Given the description of an element on the screen output the (x, y) to click on. 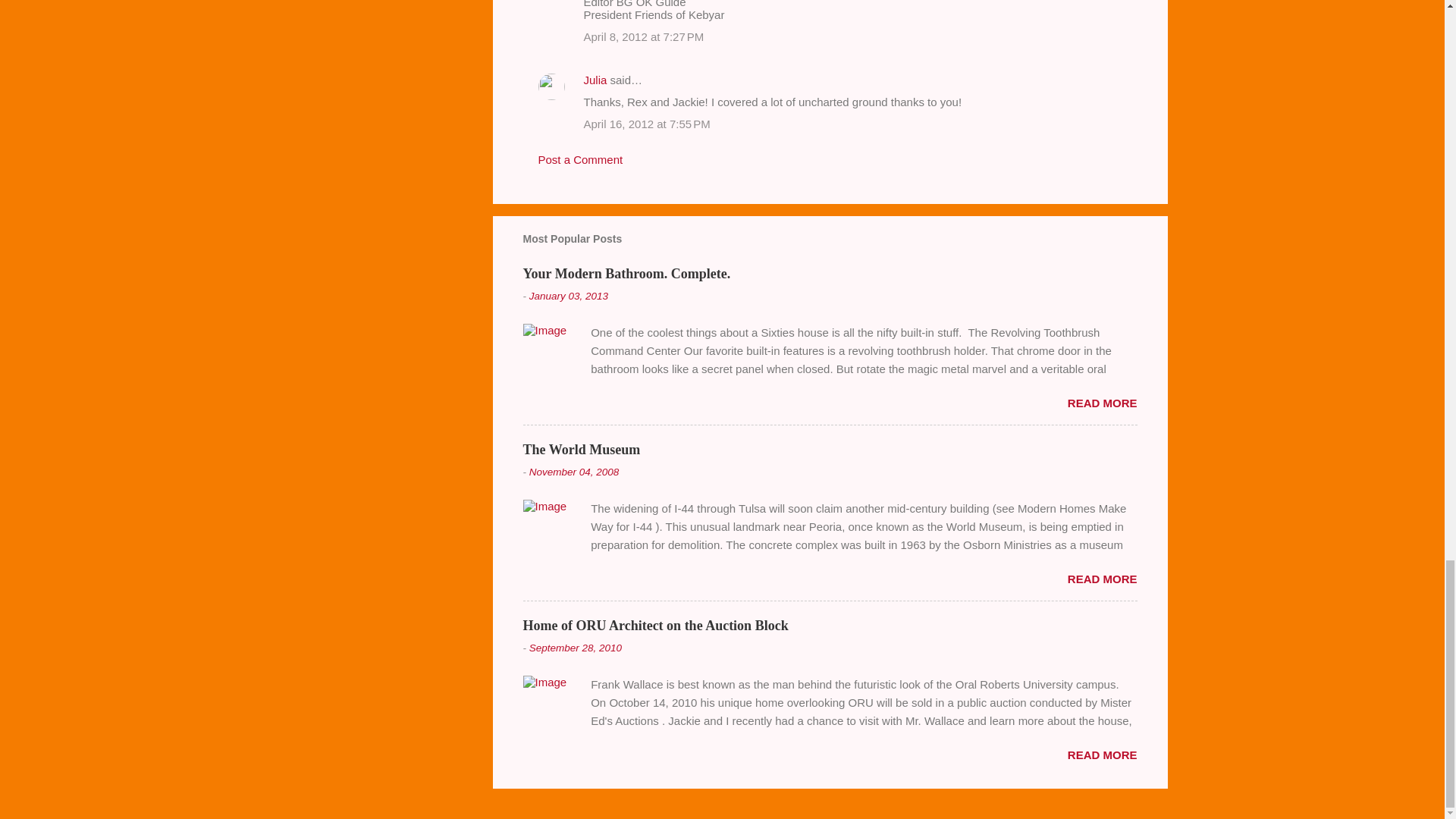
Julia (595, 79)
